Given the description of an element on the screen output the (x, y) to click on. 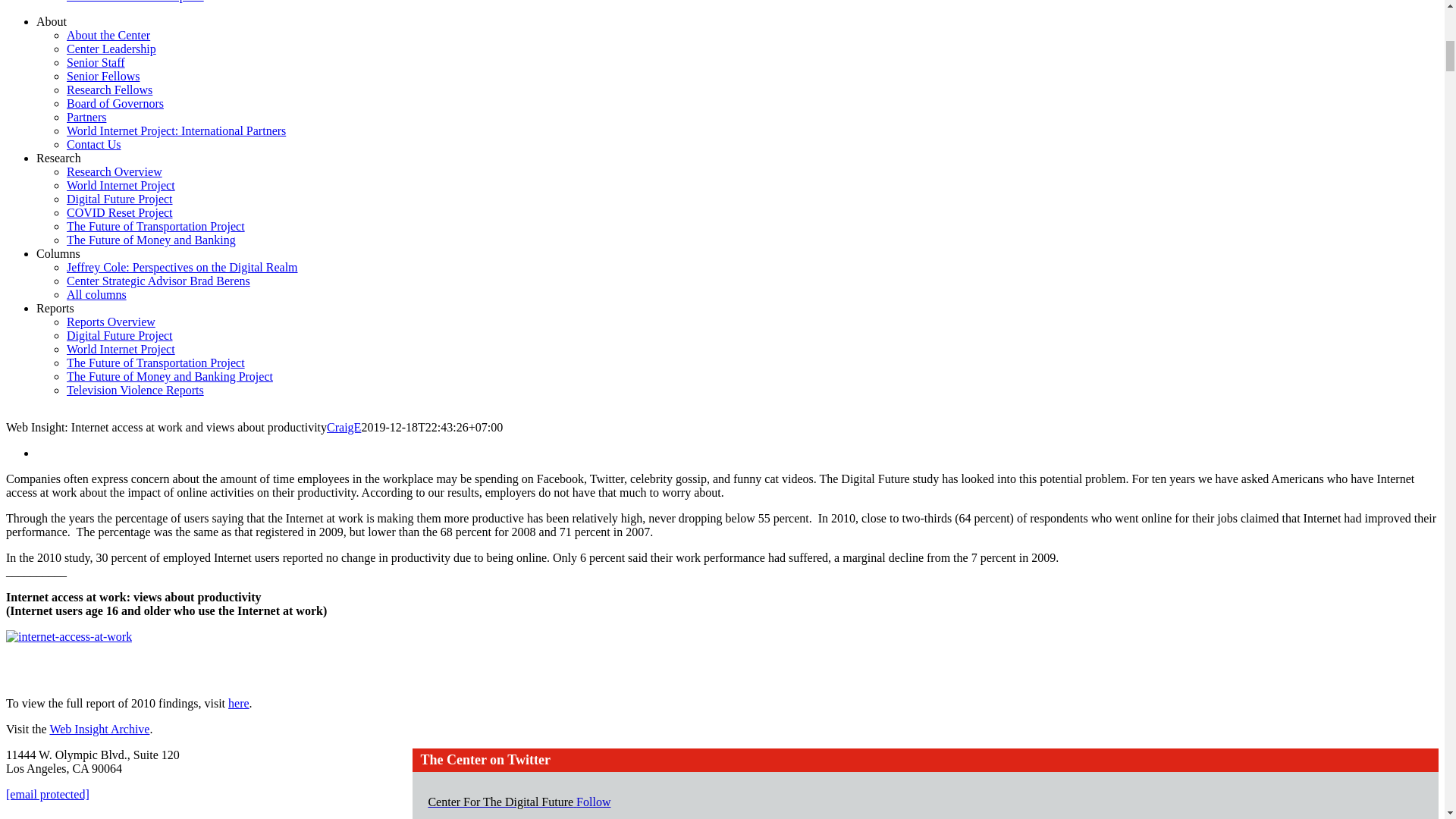
Web Insight archive (99, 728)
Posts by CraigE (343, 427)
